Given the description of an element on the screen output the (x, y) to click on. 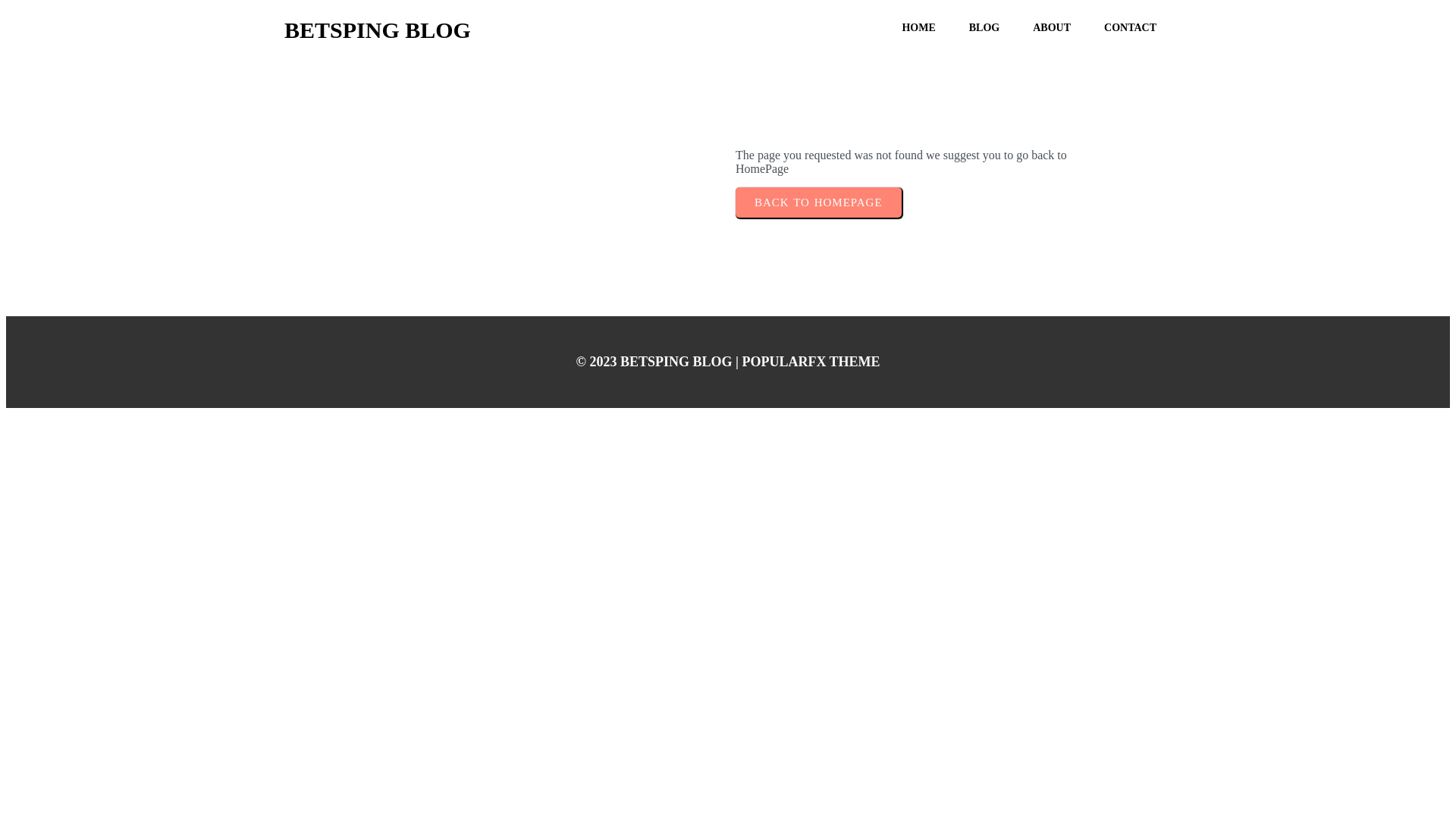
BLOG (983, 27)
CONTACT (1130, 27)
BACK TO HOMEPAGE (818, 202)
HOME (918, 27)
BETSPING BLOG (394, 23)
ABOUT (1051, 27)
POPULARFX THEME (810, 361)
